Given the description of an element on the screen output the (x, y) to click on. 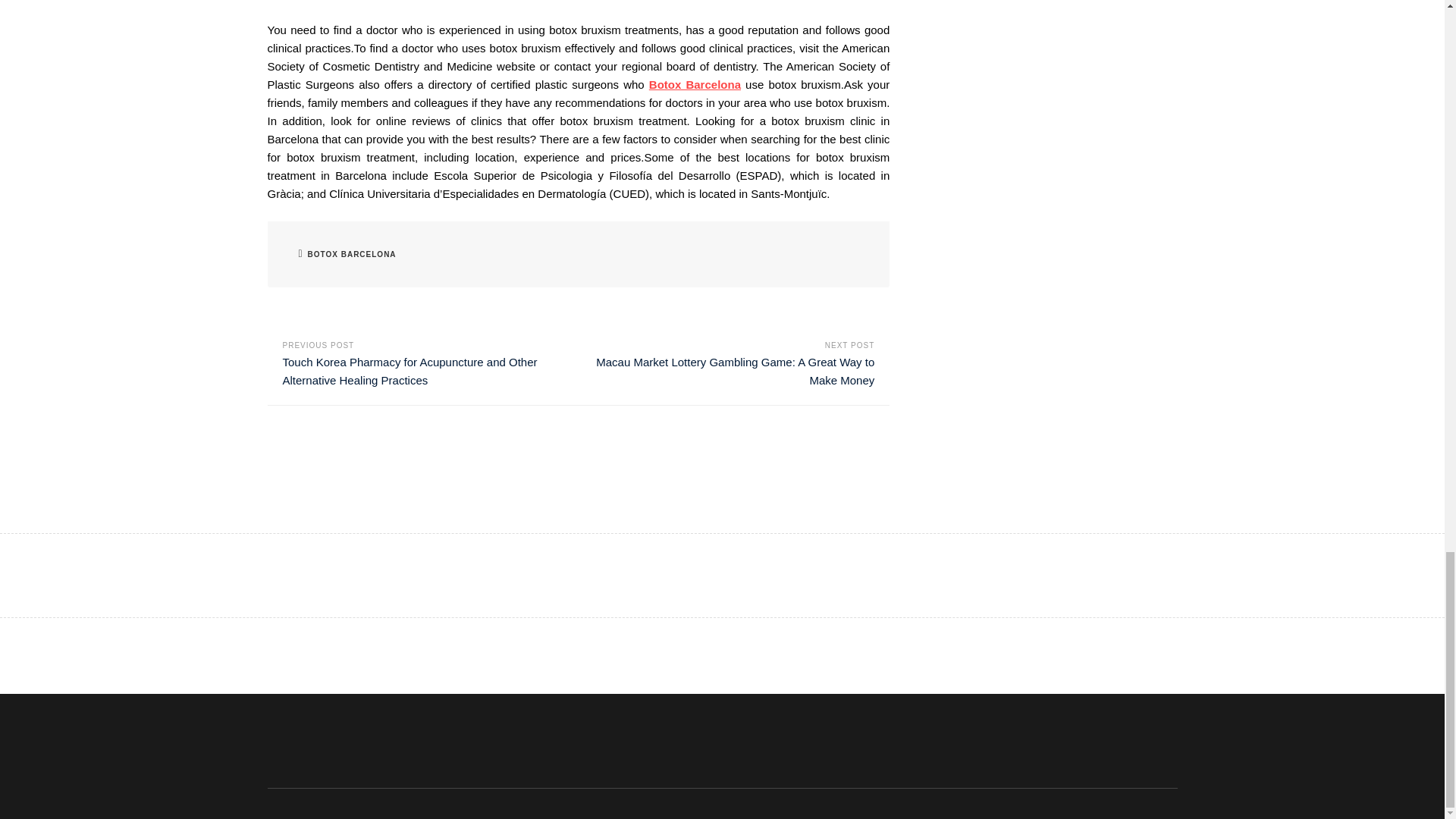
BOTOX BARCELONA (351, 254)
Botox Barcelona (695, 83)
